Given the description of an element on the screen output the (x, y) to click on. 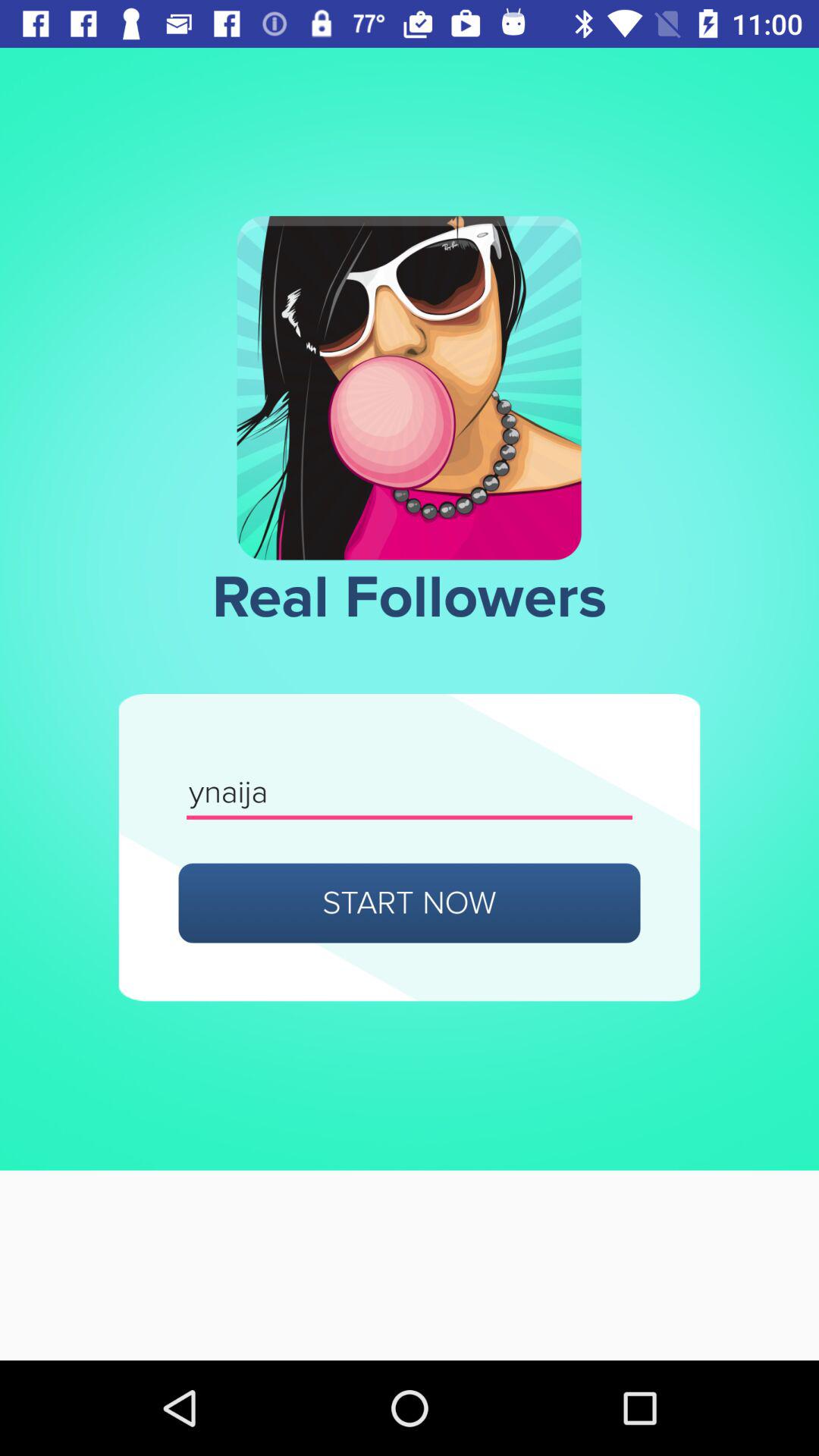
select start now (409, 902)
